Given the description of an element on the screen output the (x, y) to click on. 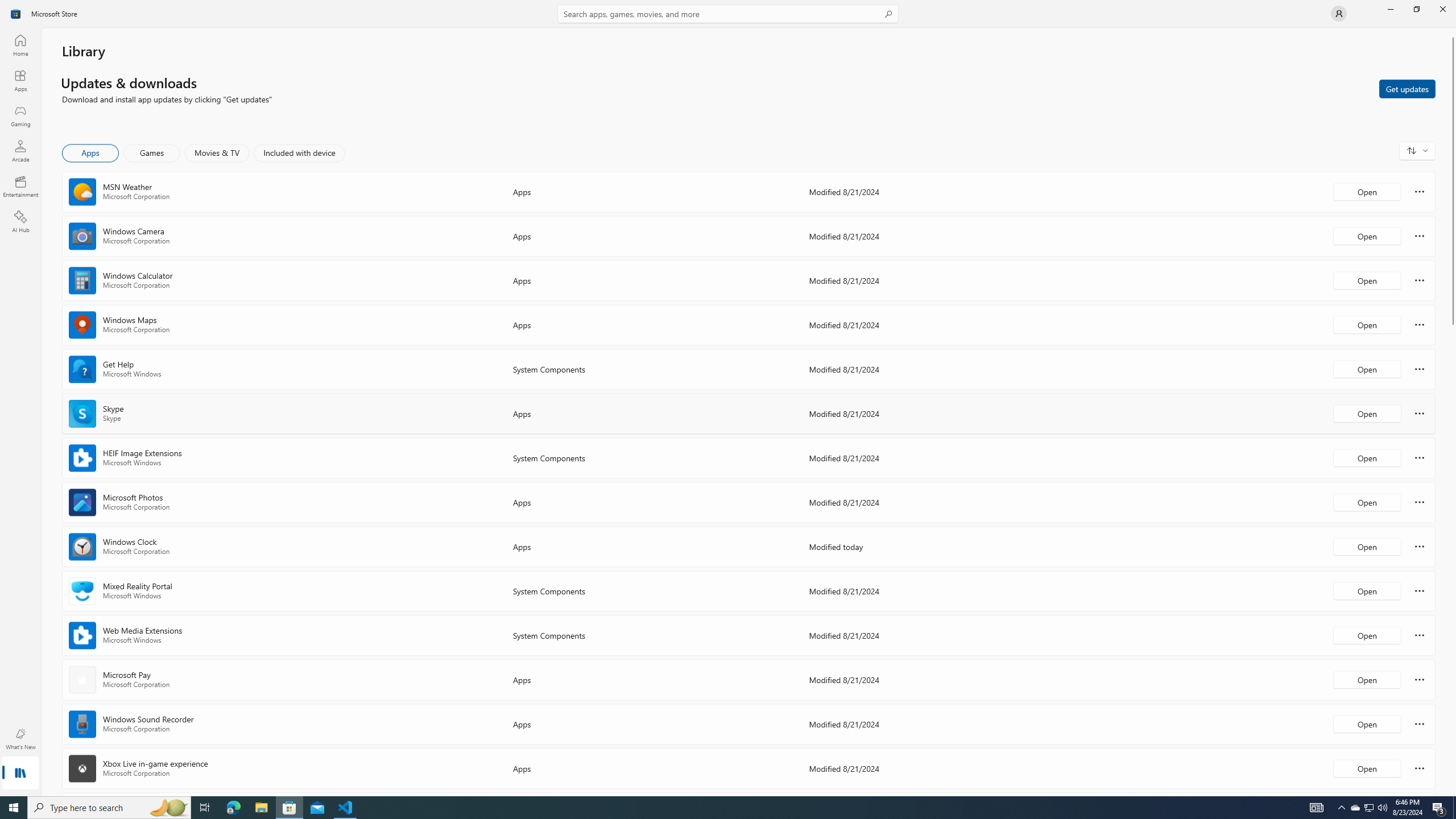
Apps (20, 80)
Minimize Microsoft Store (1390, 9)
Class: Image (15, 13)
Gaming (20, 115)
What's New (20, 738)
Sort and filter (1417, 149)
Vertical Large Increase (1452, 557)
Vertical (1452, 412)
Close Microsoft Store (1442, 9)
Movies & TV (216, 153)
More options (1419, 768)
Arcade (20, 150)
Vertical Small Decrease (1452, 31)
Get updates (1406, 88)
Library (20, 773)
